Given the description of an element on the screen output the (x, y) to click on. 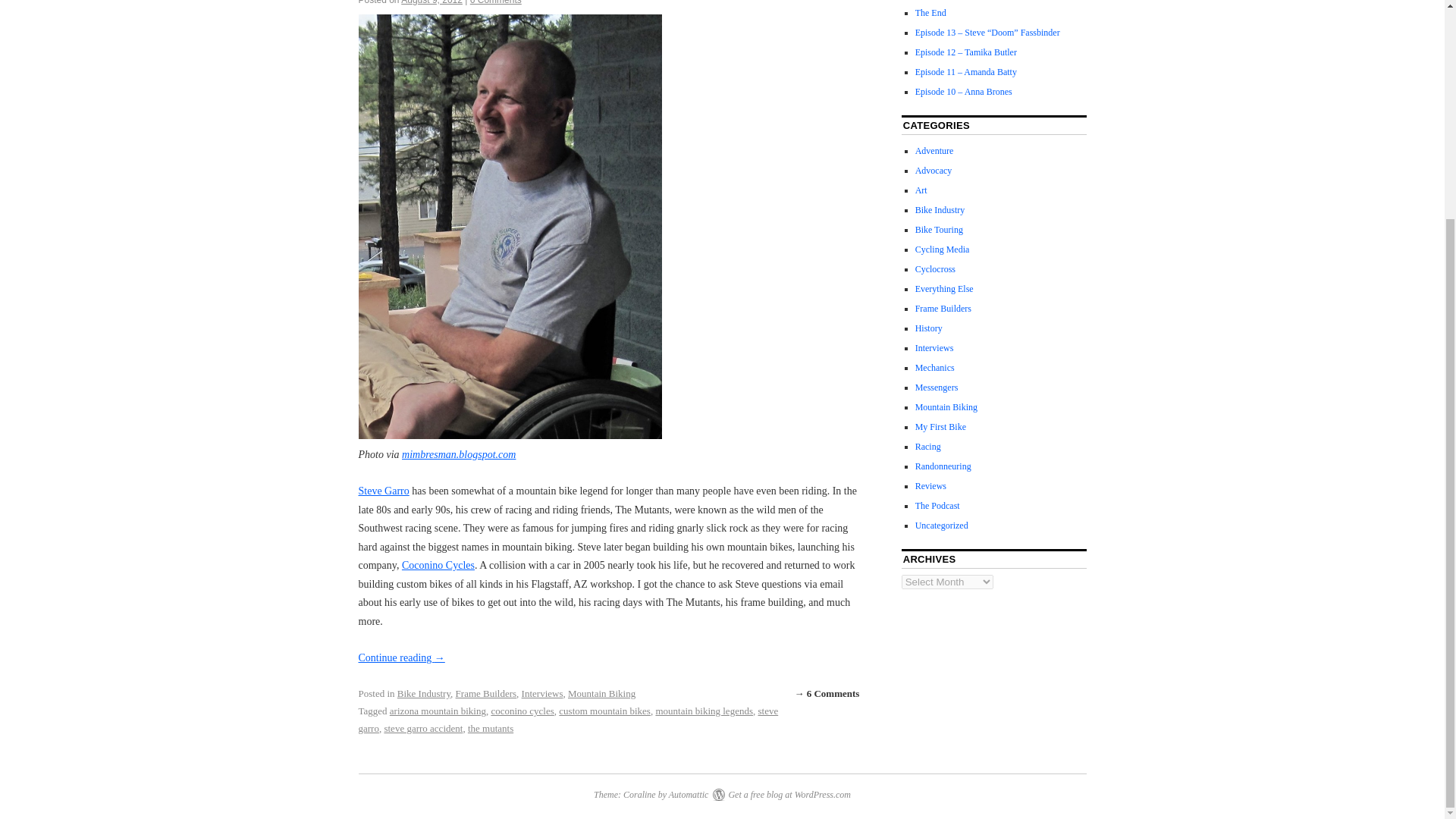
Advocacy (933, 170)
6 Comments (495, 2)
August 9, 2012 (432, 2)
Steve Garro (383, 490)
custom mountain bikes (604, 710)
mountain biking legends (703, 710)
the mutants (490, 727)
steve garro accident (423, 727)
The End (930, 12)
Art (921, 190)
Mountain Biking (600, 693)
Bike Industry (423, 693)
Bike Touring (938, 229)
Coconino Cycles (437, 564)
Bike Industry (940, 209)
